Given the description of an element on the screen output the (x, y) to click on. 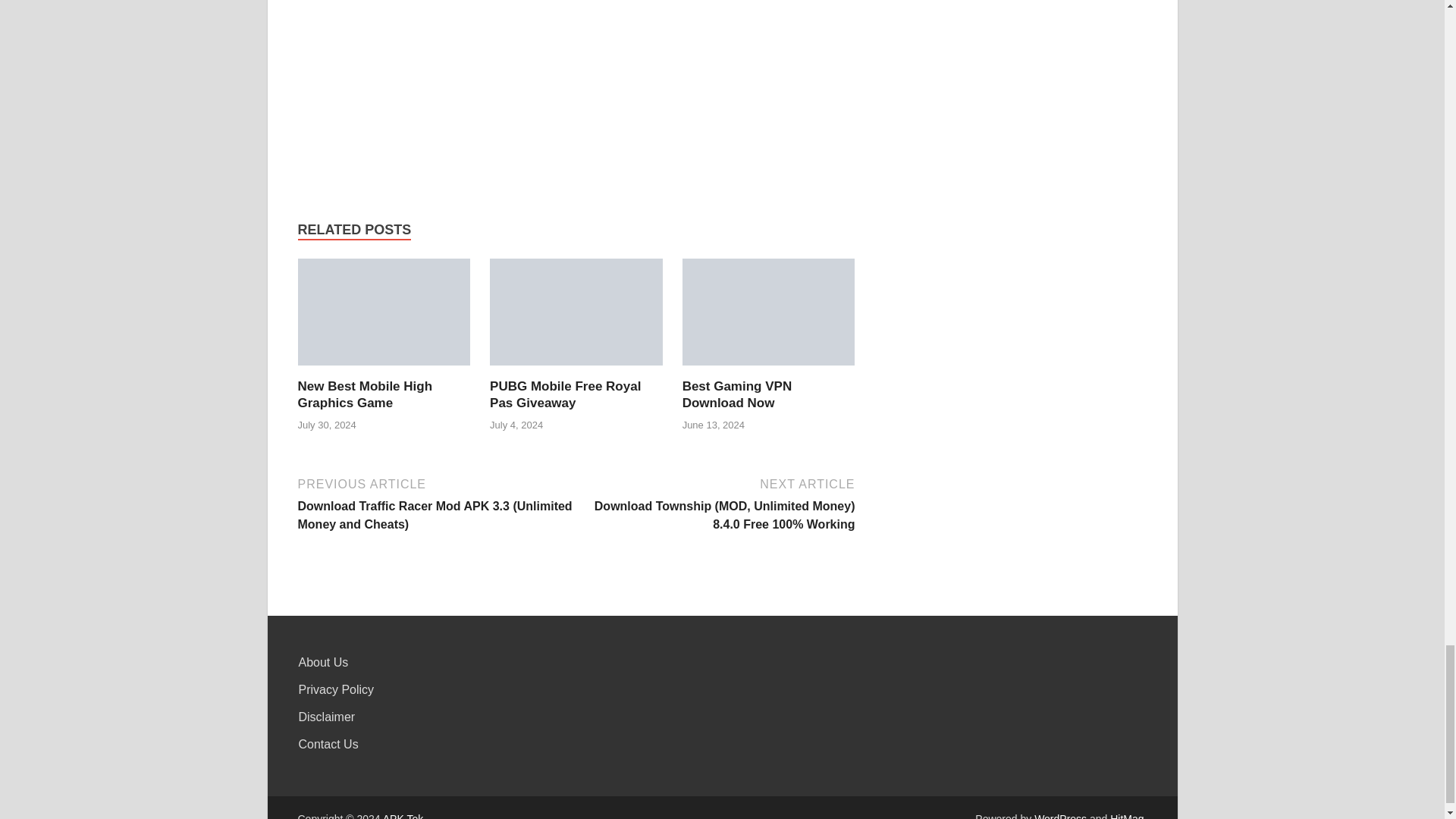
New Best Mobile High Graphics Game (364, 394)
New Best Mobile High Graphics Game (383, 311)
PUBG Mobile Free Royal Pas Giveaway (564, 394)
Best Gaming VPN Download Now (769, 317)
PUBG Mobile Free Royal Pas Giveaway (575, 317)
Best Gaming VPN Download Now (769, 311)
New Best Mobile High Graphics Game (364, 394)
Best Gaming VPN Download Now (737, 394)
New Best Mobile High Graphics Game (383, 317)
PUBG Mobile Free Royal Pas Giveaway (575, 311)
